Given the description of an element on the screen output the (x, y) to click on. 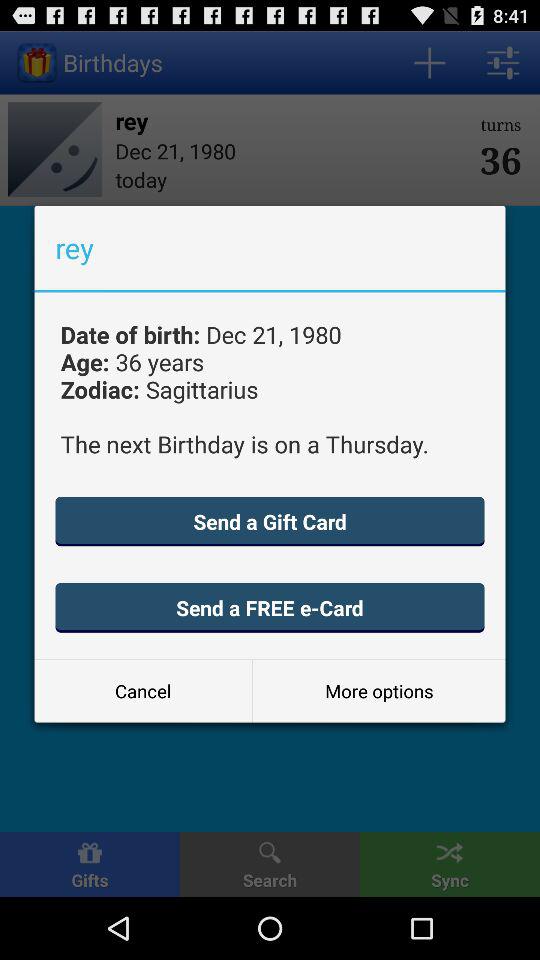
select button to the left of the more options item (143, 690)
